Given the description of an element on the screen output the (x, y) to click on. 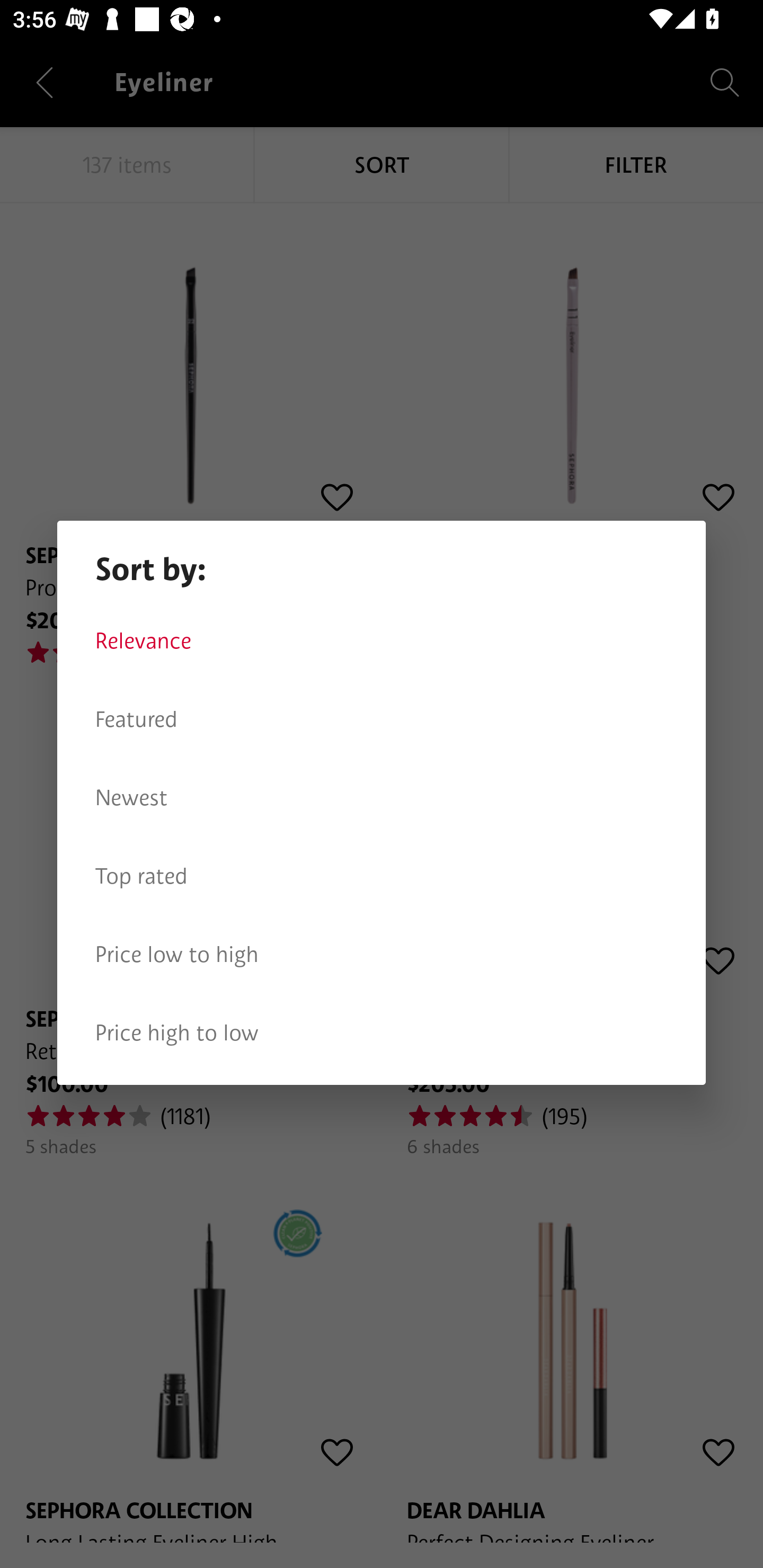
Relevance (381, 641)
Featured (381, 719)
Newest (381, 797)
Top rated (381, 876)
Price low to high (381, 954)
Price high to low (381, 1033)
